Given the description of an element on the screen output the (x, y) to click on. 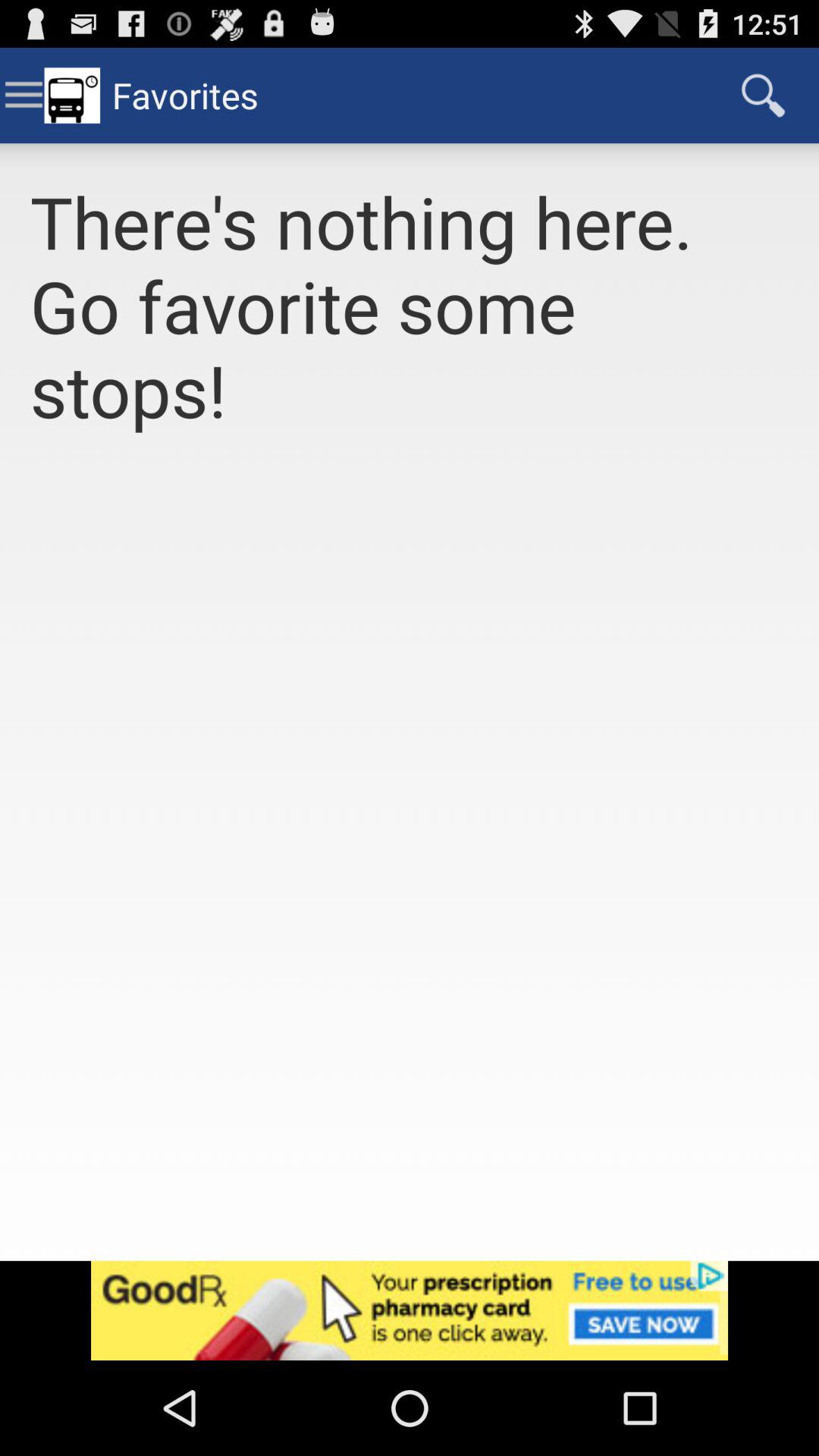
advertisement page (409, 1310)
